Given the description of an element on the screen output the (x, y) to click on. 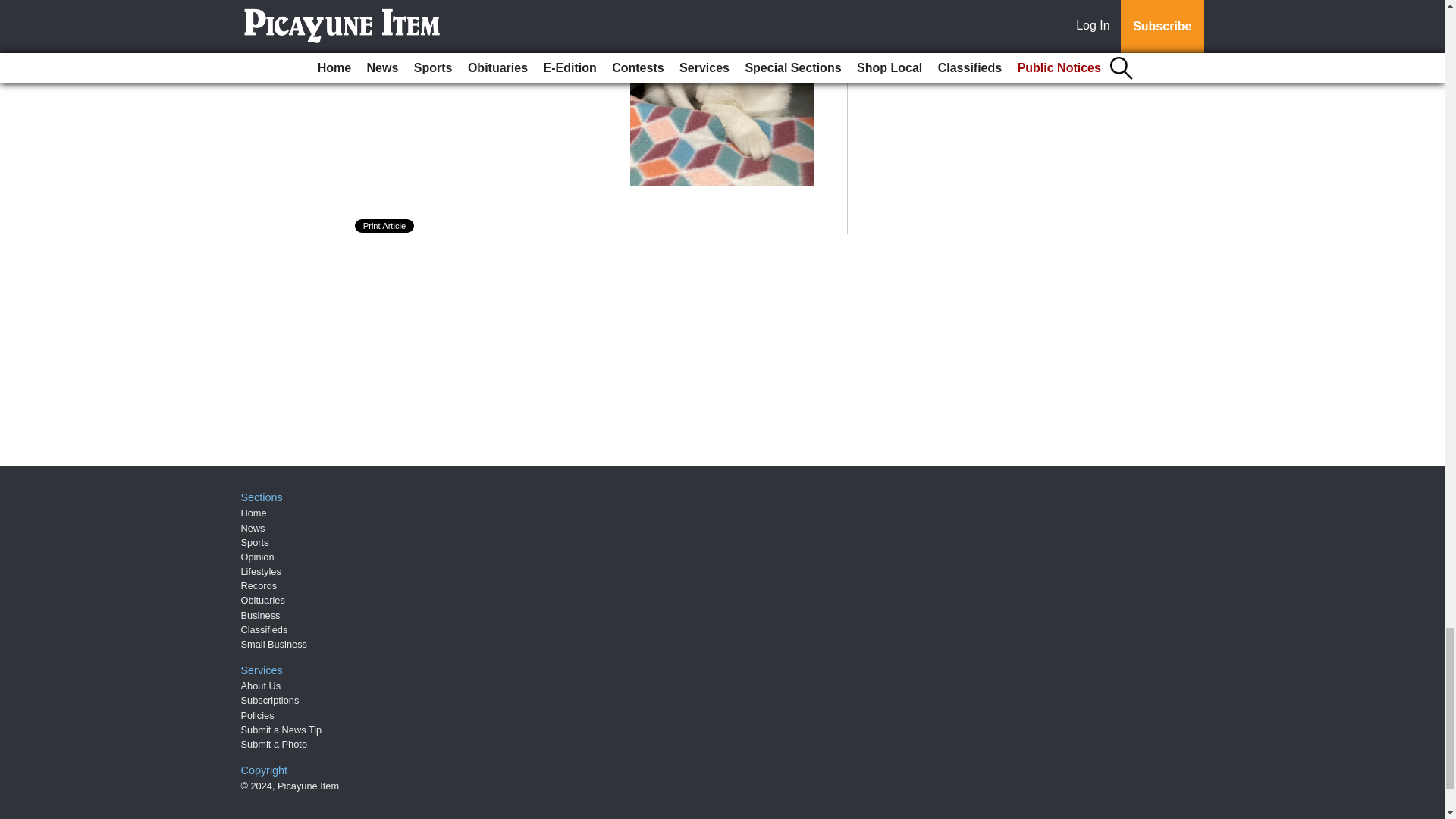
Print Article (384, 225)
